Given the description of an element on the screen output the (x, y) to click on. 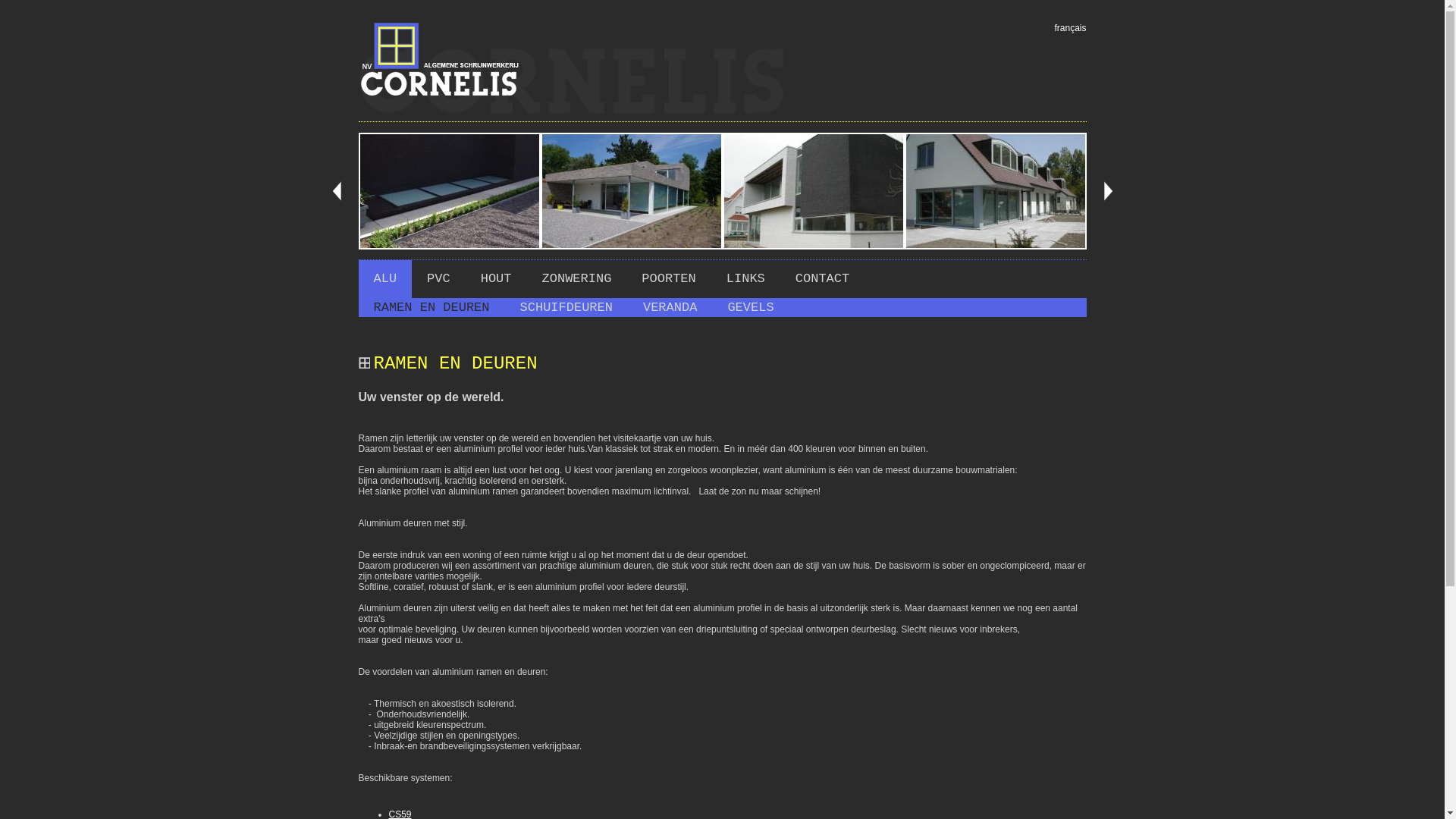
RAMEN EN DEUREN Element type: text (430, 307)
LINKS Element type: text (745, 279)
Home Element type: hover (570, 110)
ALU Element type: text (384, 279)
POORTEN Element type: text (668, 279)
Skip to main content Element type: text (41, 5)
SCHUIFDEUREN Element type: text (566, 307)
GEVELS Element type: text (750, 307)
VERANDA Element type: text (669, 307)
PVC Element type: text (438, 279)
CONTACT Element type: text (822, 279)
ZONWERING Element type: text (577, 279)
HOUT Element type: text (496, 279)
